Given the description of an element on the screen output the (x, y) to click on. 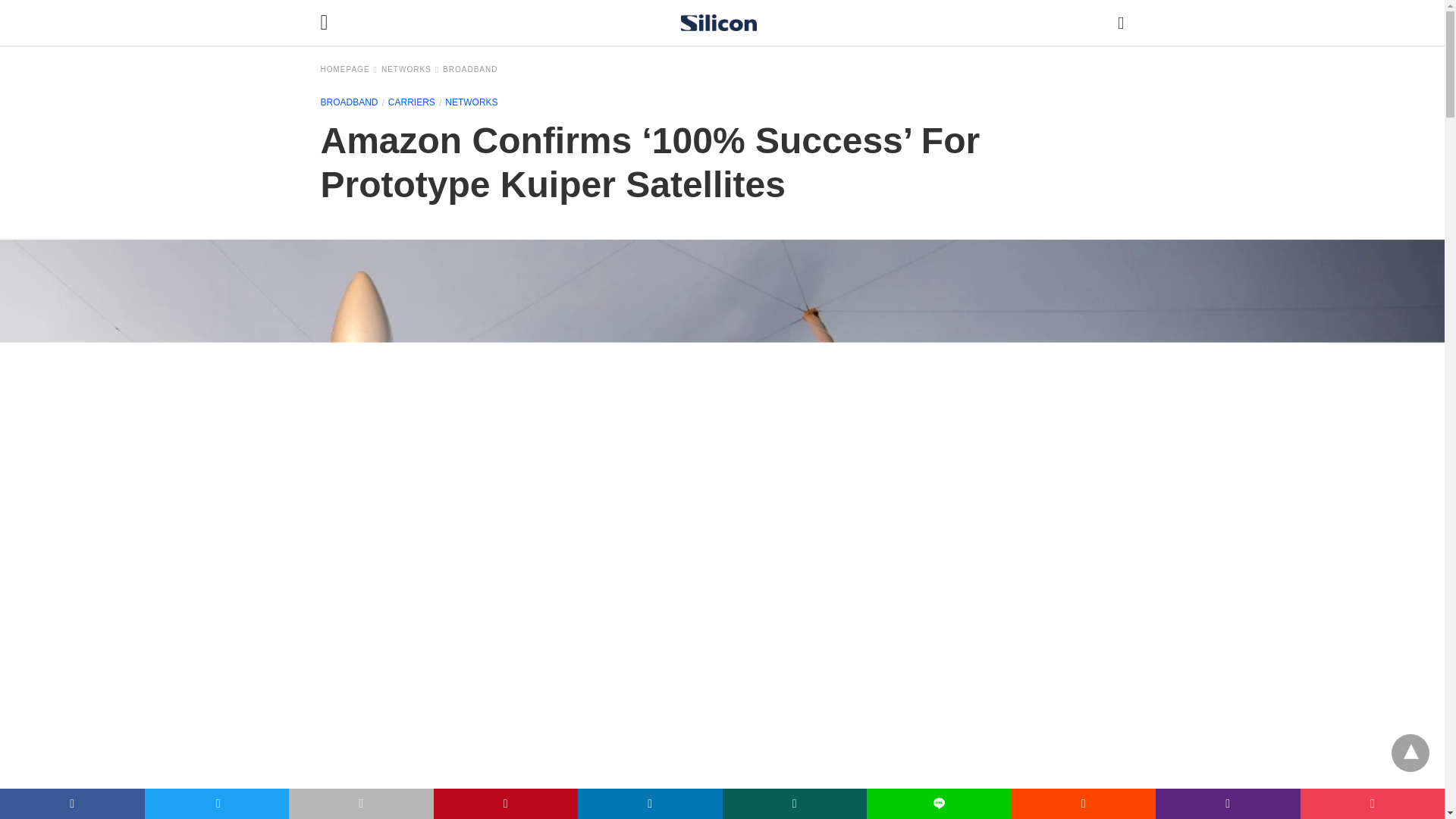
Broadband (469, 69)
NETWORKS (471, 102)
HOMEPAGE (348, 69)
Homepage (348, 69)
Silicon UK (719, 22)
Networks (471, 102)
NETWORKS (410, 69)
BROADBAND (469, 69)
Carriers (411, 102)
Networks (410, 69)
